Given the description of an element on the screen output the (x, y) to click on. 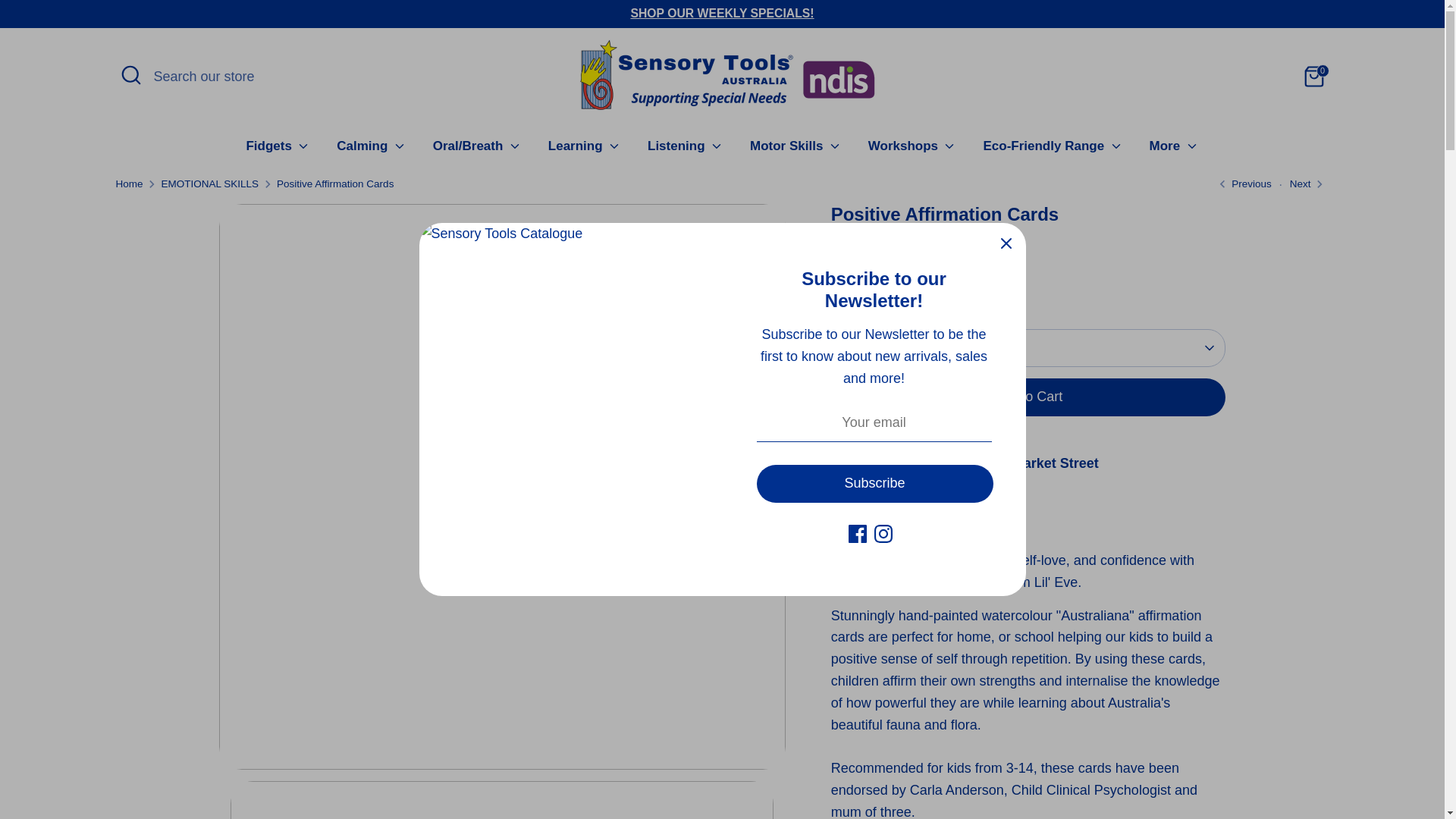
Creative Sprout - Calm Down Cards (1300, 184)
0 (1312, 76)
SHOP OUR WEEKLY SPECIALS! (721, 12)
Calming Cards (1241, 184)
